Given the description of an element on the screen output the (x, y) to click on. 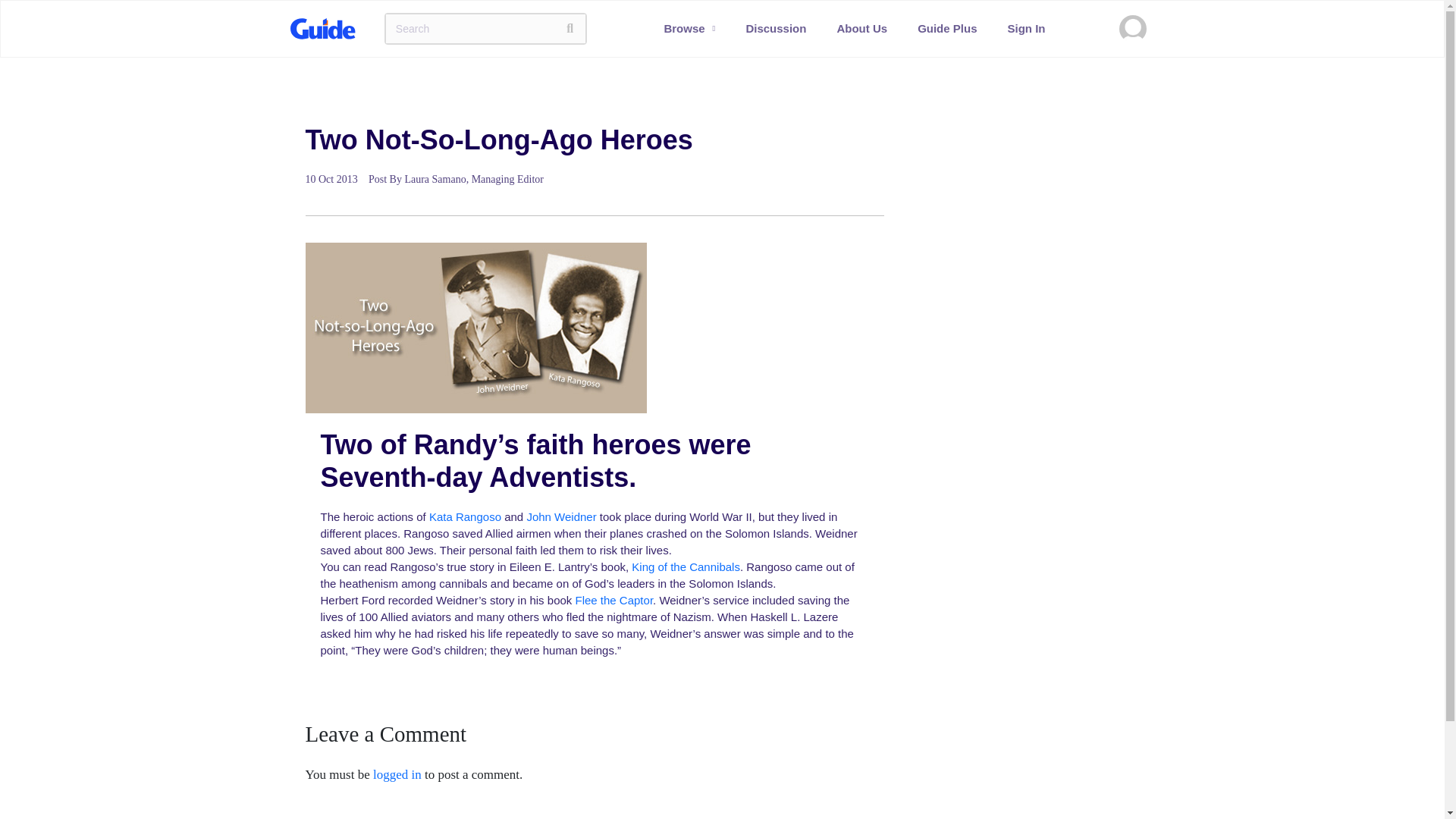
Search (469, 28)
Kata Rangoso (464, 516)
King of the Cannibals (685, 566)
Discussion (775, 28)
About Us (861, 28)
Search (569, 28)
Browse (688, 28)
logged in (397, 774)
John Weidner (560, 516)
Guide Plus (946, 28)
Flee the Captor (613, 599)
Sign In (1025, 28)
